Given the description of an element on the screen output the (x, y) to click on. 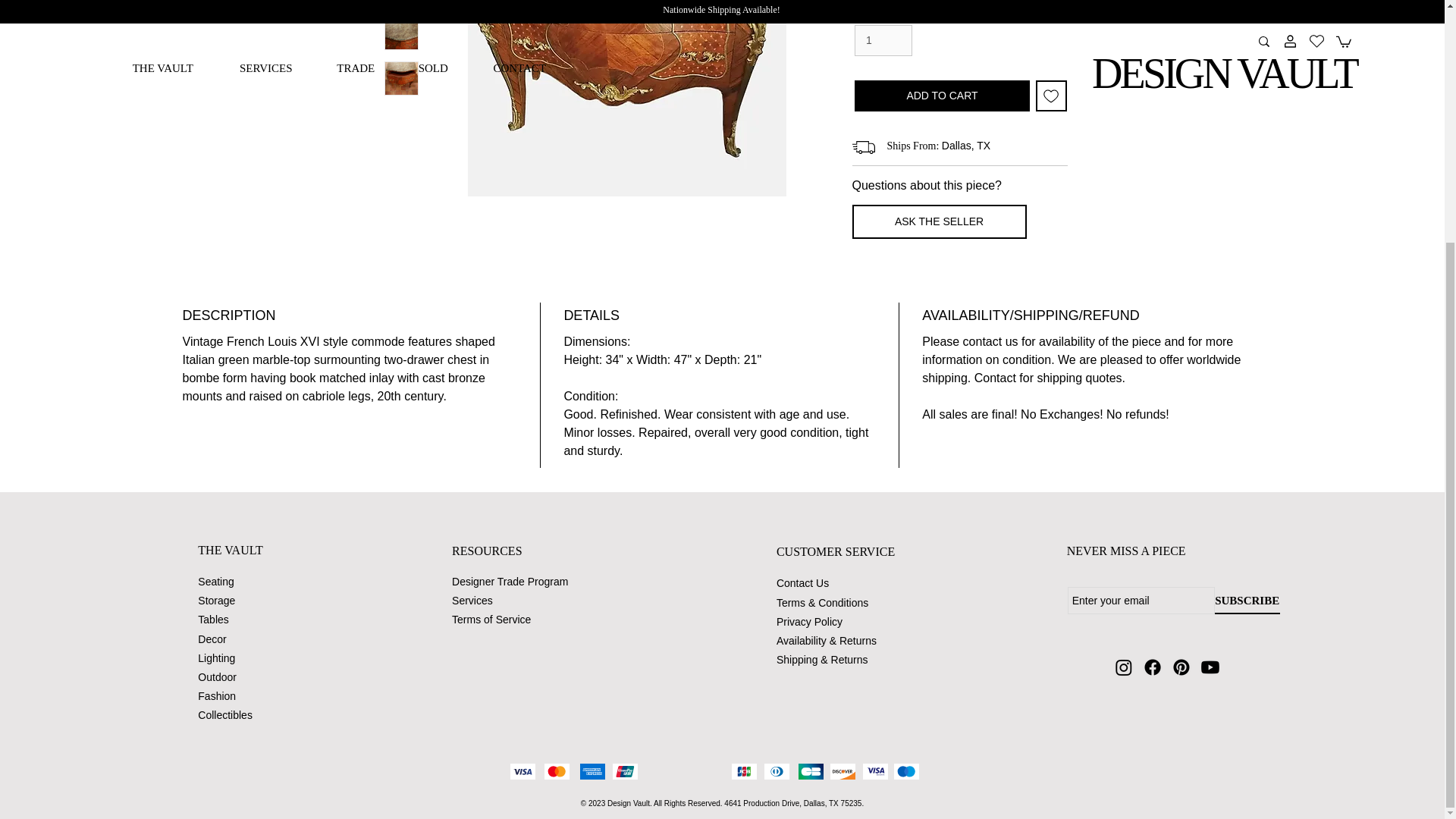
ADD TO CART (941, 95)
Contact Us (802, 582)
Collectibles (224, 715)
Storage (216, 600)
ASK THE SELLER (938, 221)
1 (883, 40)
Services (472, 600)
Tables (213, 619)
Terms of Service  (492, 619)
Lighting (216, 657)
Seating (215, 581)
Outdoor (216, 676)
Fashion (216, 695)
Designer Trade Program (509, 581)
Decor (211, 639)
